Given the description of an element on the screen output the (x, y) to click on. 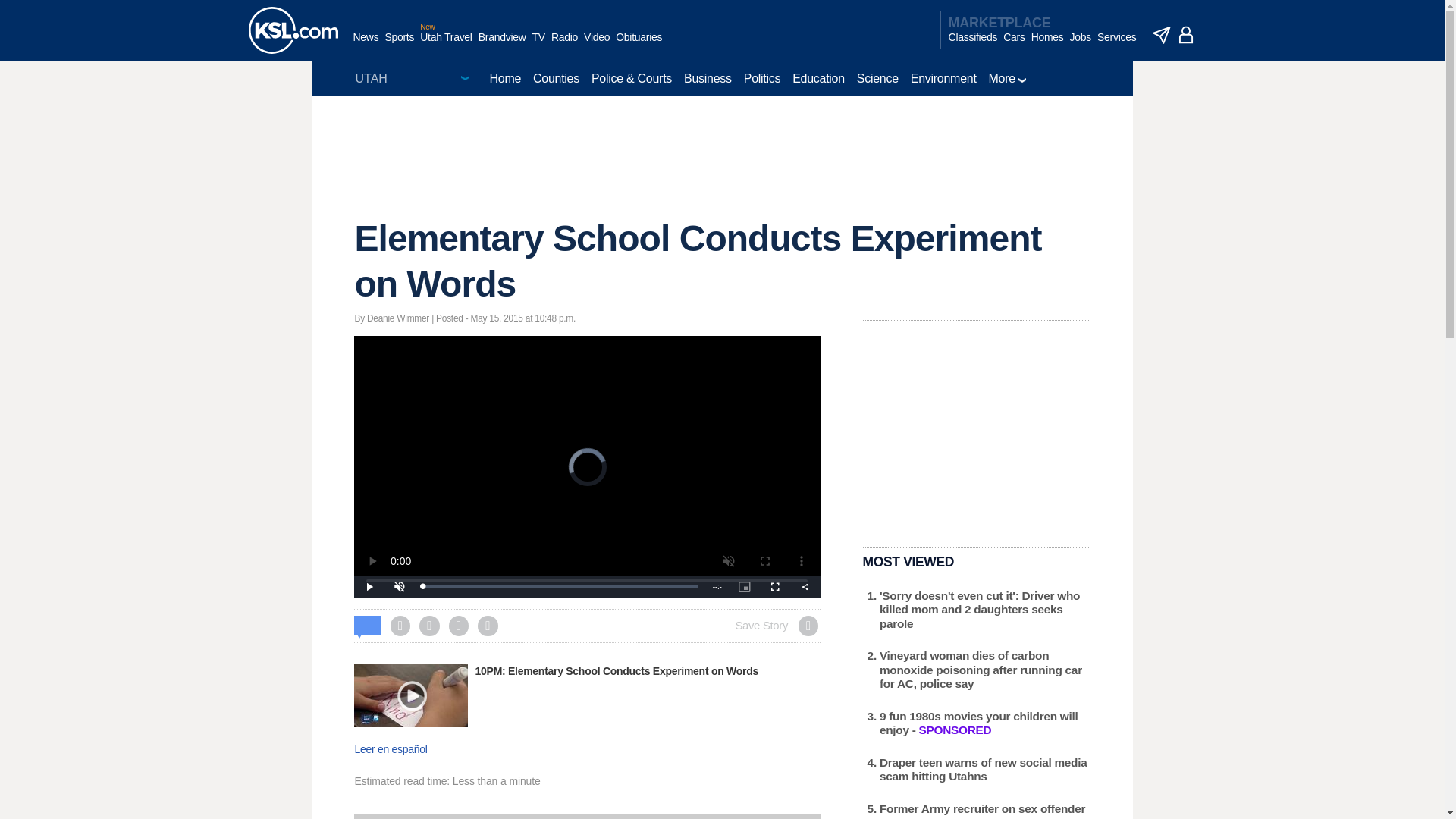
Share (805, 586)
KSL homepage (292, 29)
Sports (398, 45)
Fullscreen (775, 586)
Brandview (502, 45)
account - logged out (1185, 34)
Unmute (399, 586)
Play (368, 586)
Picture-in-Picture (744, 586)
